Given the description of an element on the screen output the (x, y) to click on. 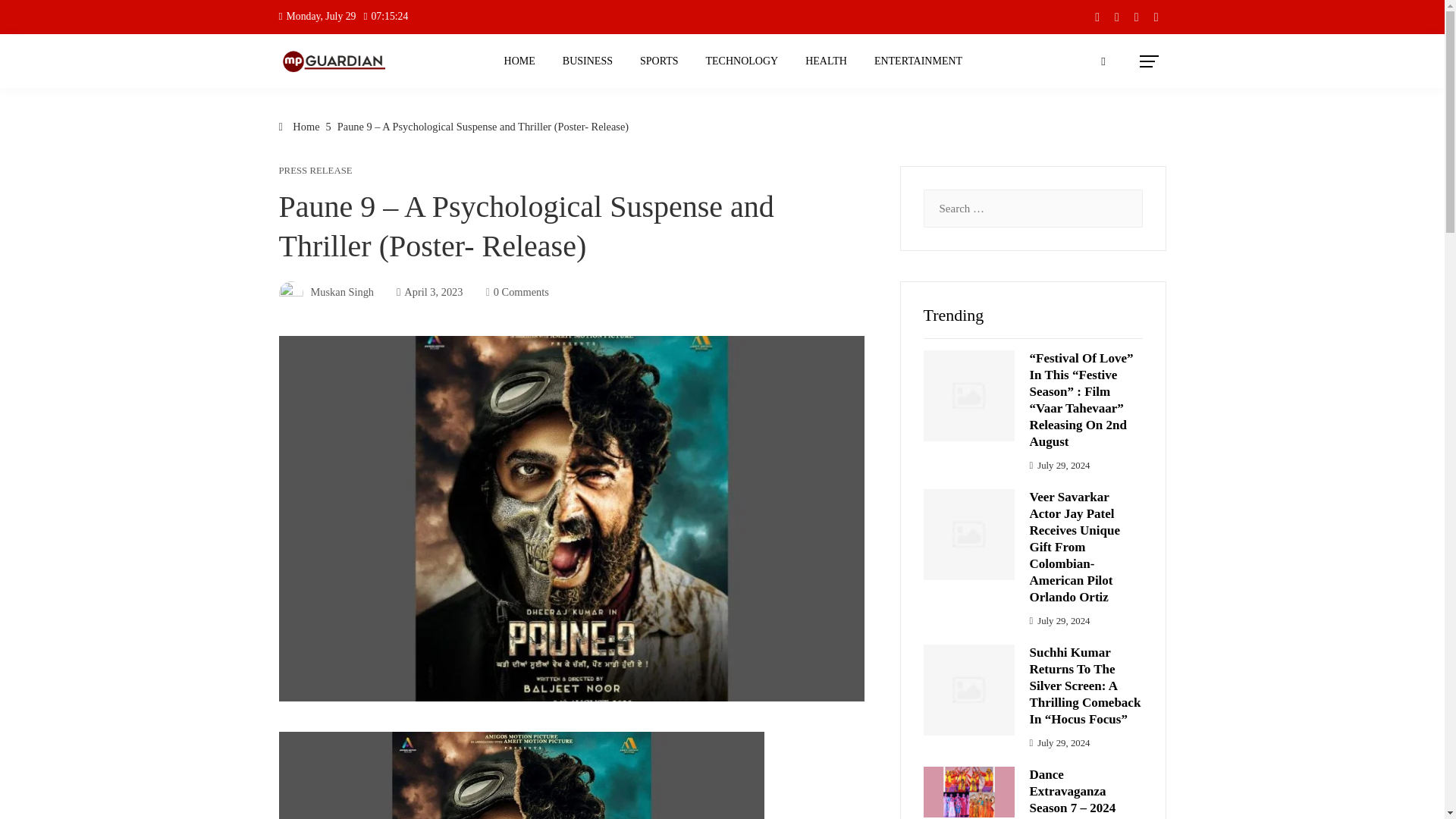
SPORTS (659, 60)
TECHNOLOGY (742, 60)
HEALTH (826, 60)
BUSINESS (587, 60)
HOME (520, 60)
Search (34, 18)
ENTERTAINMENT (918, 60)
Home (299, 126)
PRESS RELEASE (315, 171)
